Given the description of an element on the screen output the (x, y) to click on. 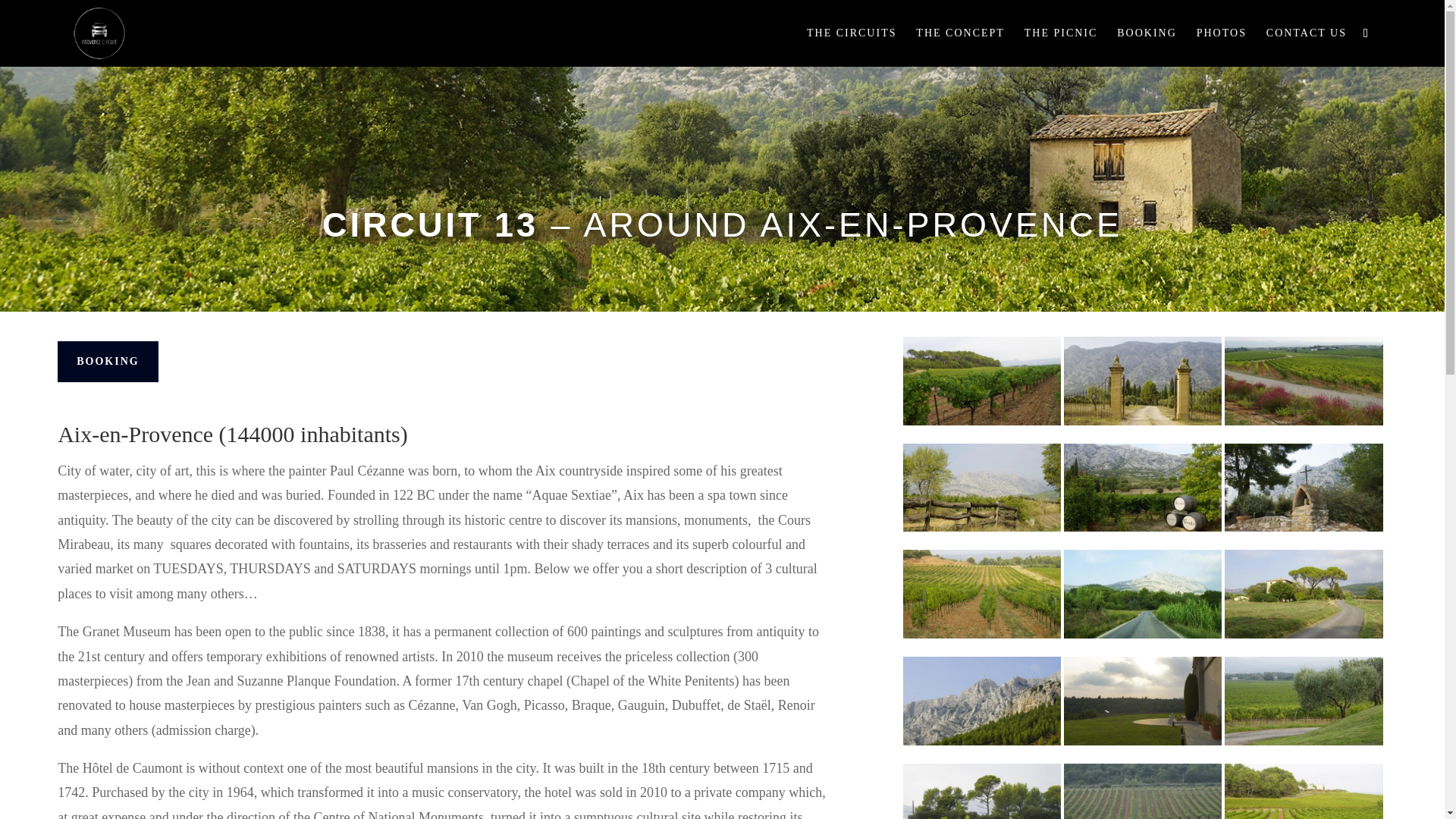
THE CIRCUITS (851, 46)
 DSC4587-min (981, 380)
PHOTOS (1221, 46)
THE CONCEPT (959, 46)
 DSC4397-min (981, 701)
 DSC4582-min (1302, 701)
 DSC4523-min (1142, 790)
BOOKING (107, 361)
 DSC4527-min (1302, 380)
BOOKING (1146, 46)
 DSC4572-min (981, 790)
 DSC4456-min (1302, 487)
 DSC4496-min (1142, 380)
 DSC4559-min (981, 594)
CONTACT US (1306, 46)
